Given the description of an element on the screen output the (x, y) to click on. 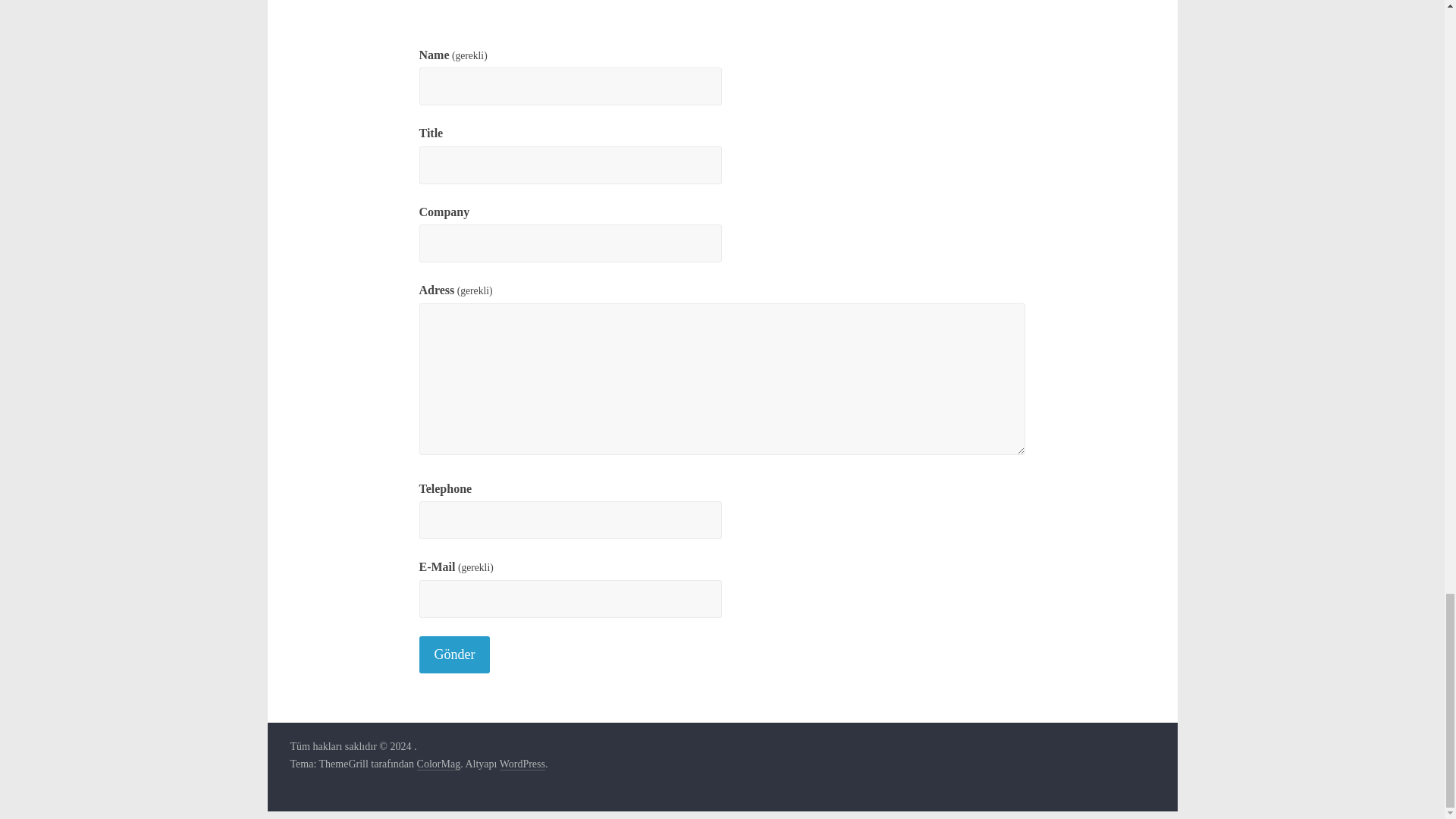
WordPress (521, 764)
ColorMag (438, 764)
WordPress (521, 764)
ColorMag (438, 764)
